Given the description of an element on the screen output the (x, y) to click on. 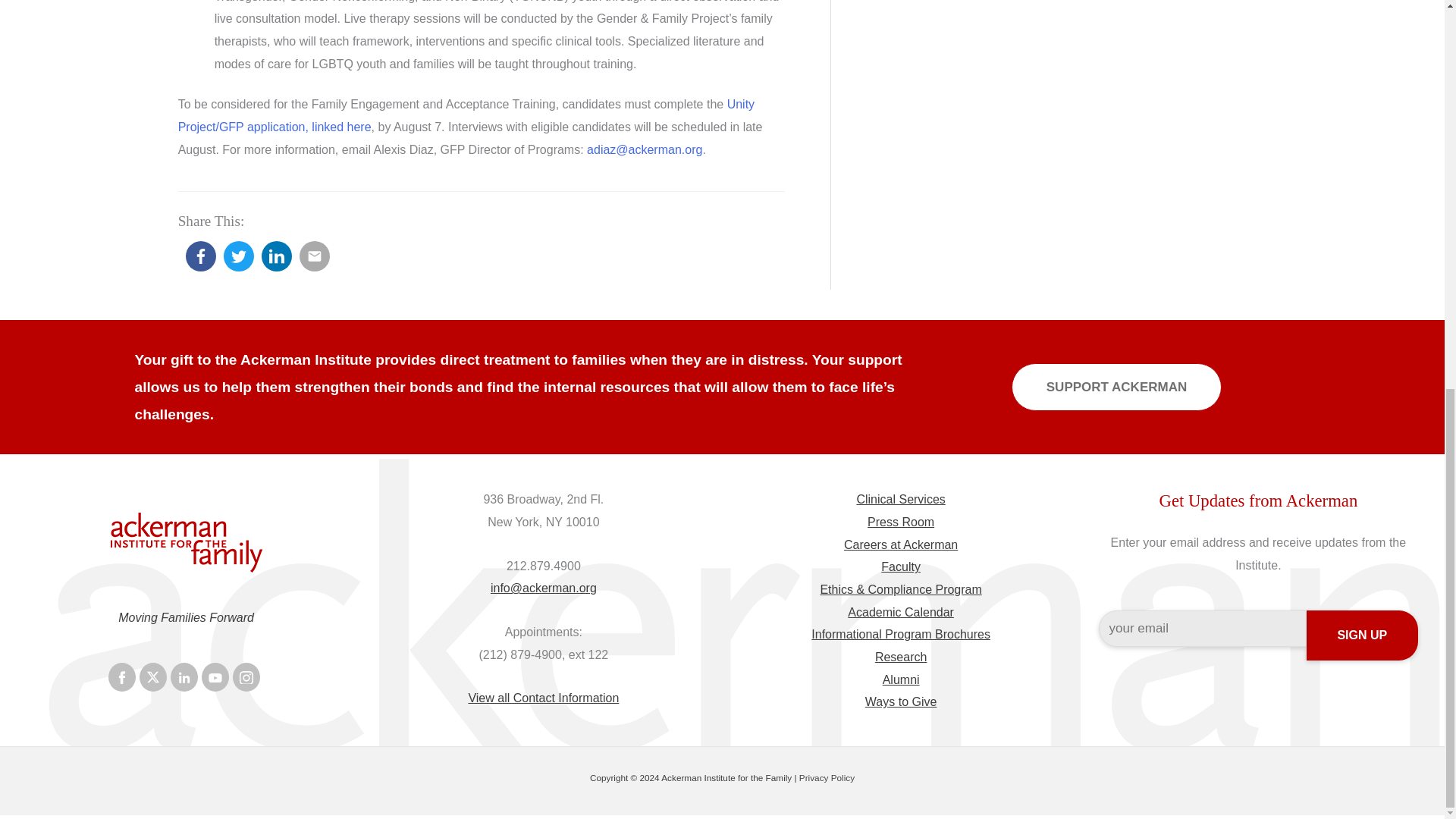
X (153, 676)
Instagram (246, 676)
Sign up (1362, 635)
LinkedIn (184, 676)
YouTube (215, 676)
Facebook (121, 676)
